Given the description of an element on the screen output the (x, y) to click on. 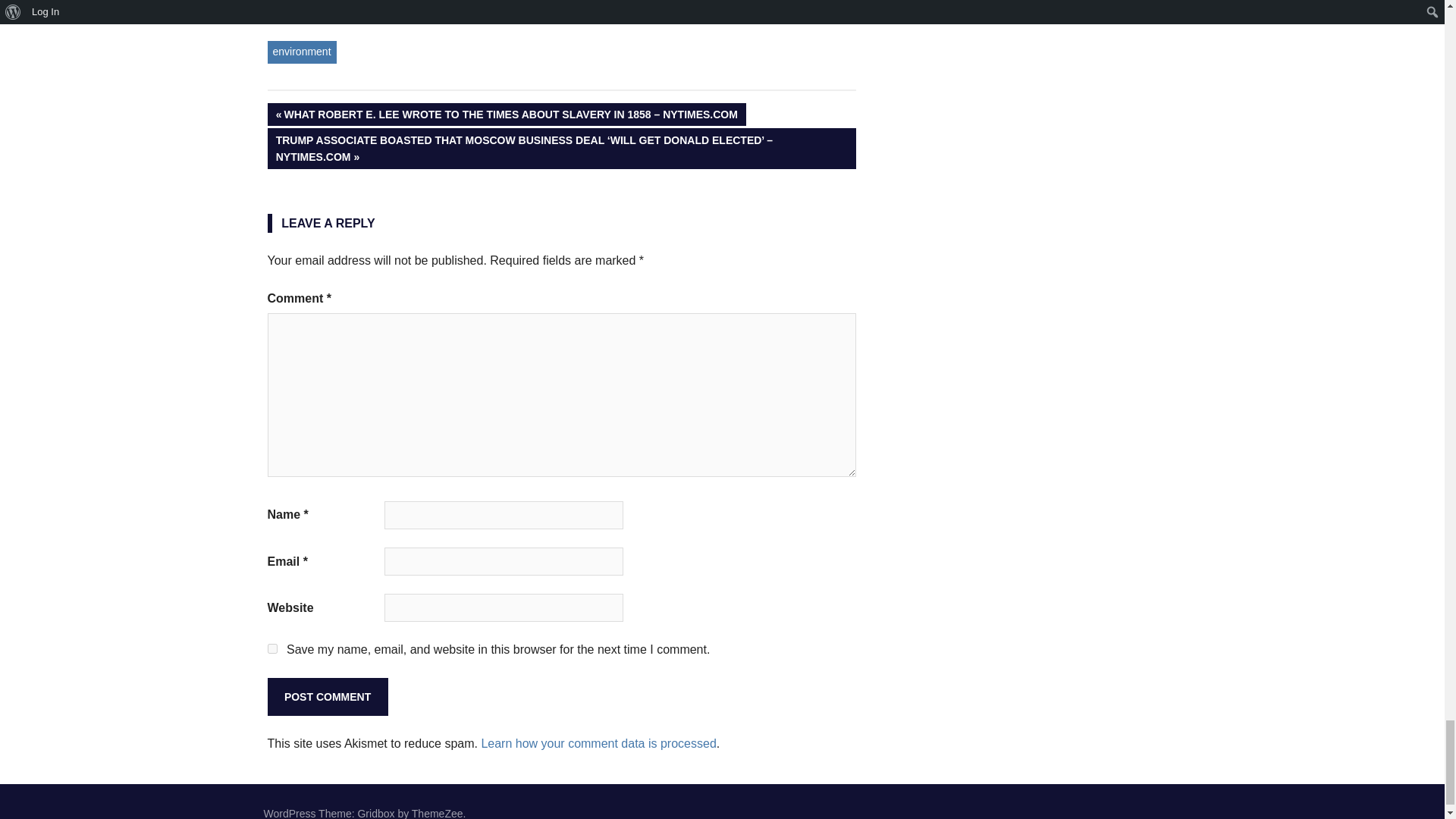
Post Comment (326, 696)
yes (271, 648)
